Given the description of an element on the screen output the (x, y) to click on. 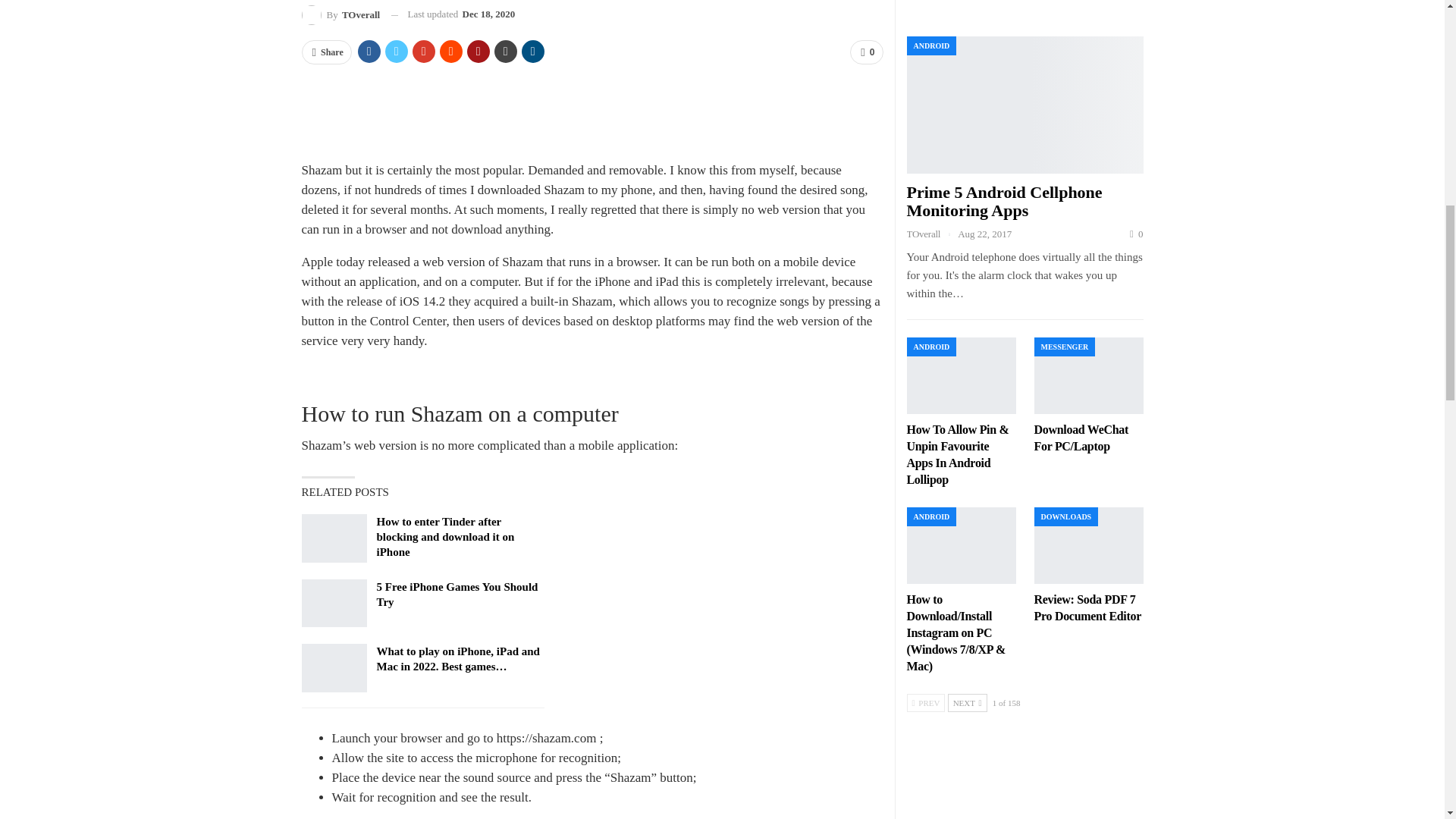
5 Free iPhone Games You Should Try (333, 603)
By TOverall (340, 14)
How to enter Tinder after blocking and download it on iPhone (333, 538)
Advertisement (591, 110)
Browse Author Articles (340, 14)
